Given the description of an element on the screen output the (x, y) to click on. 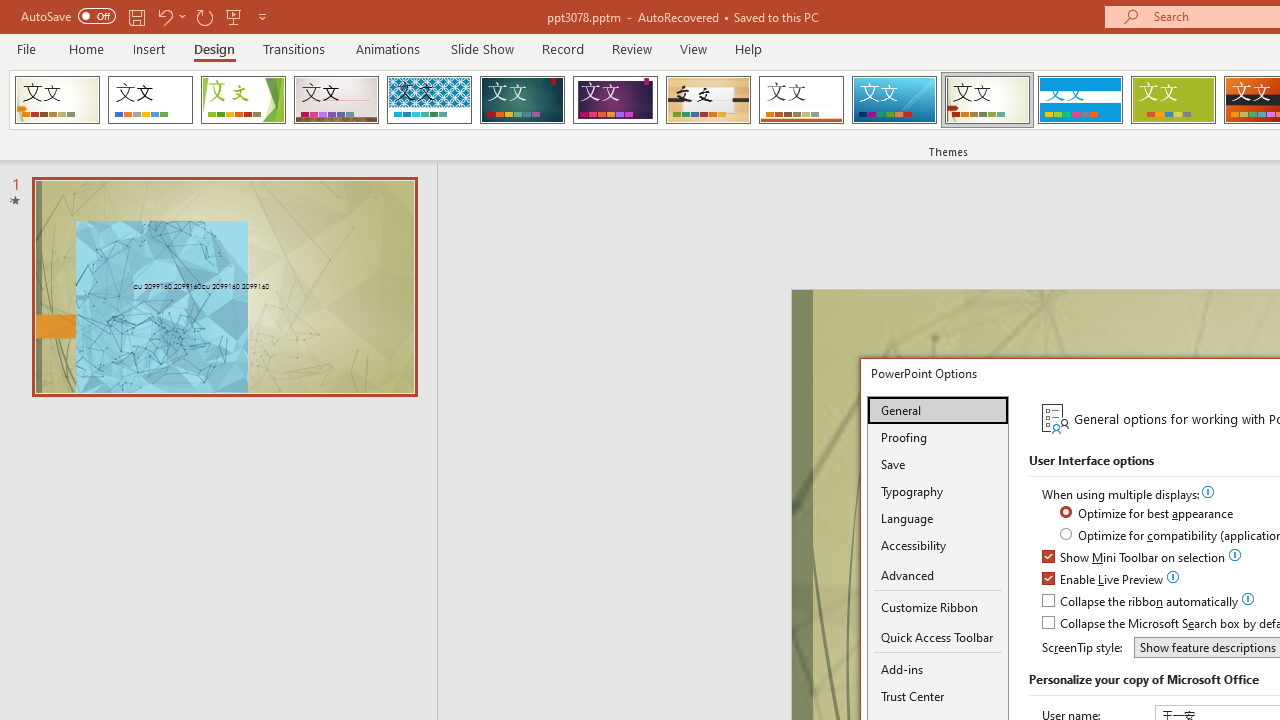
Proofing (937, 437)
Optimize for best appearance (1147, 514)
Show Mini Toolbar on selection (1134, 558)
Typography (937, 491)
